Given the description of an element on the screen output the (x, y) to click on. 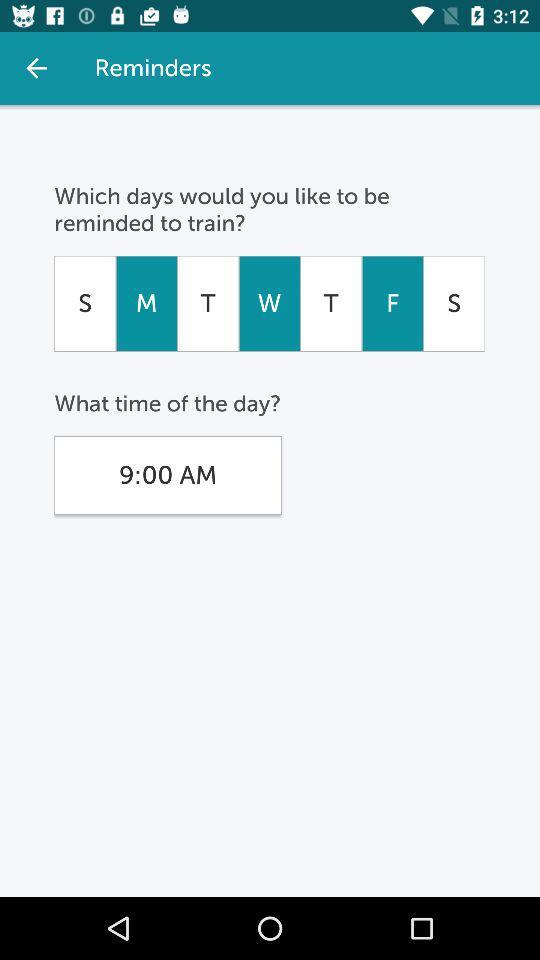
turn on icon to the left of t item (146, 303)
